Given the description of an element on the screen output the (x, y) to click on. 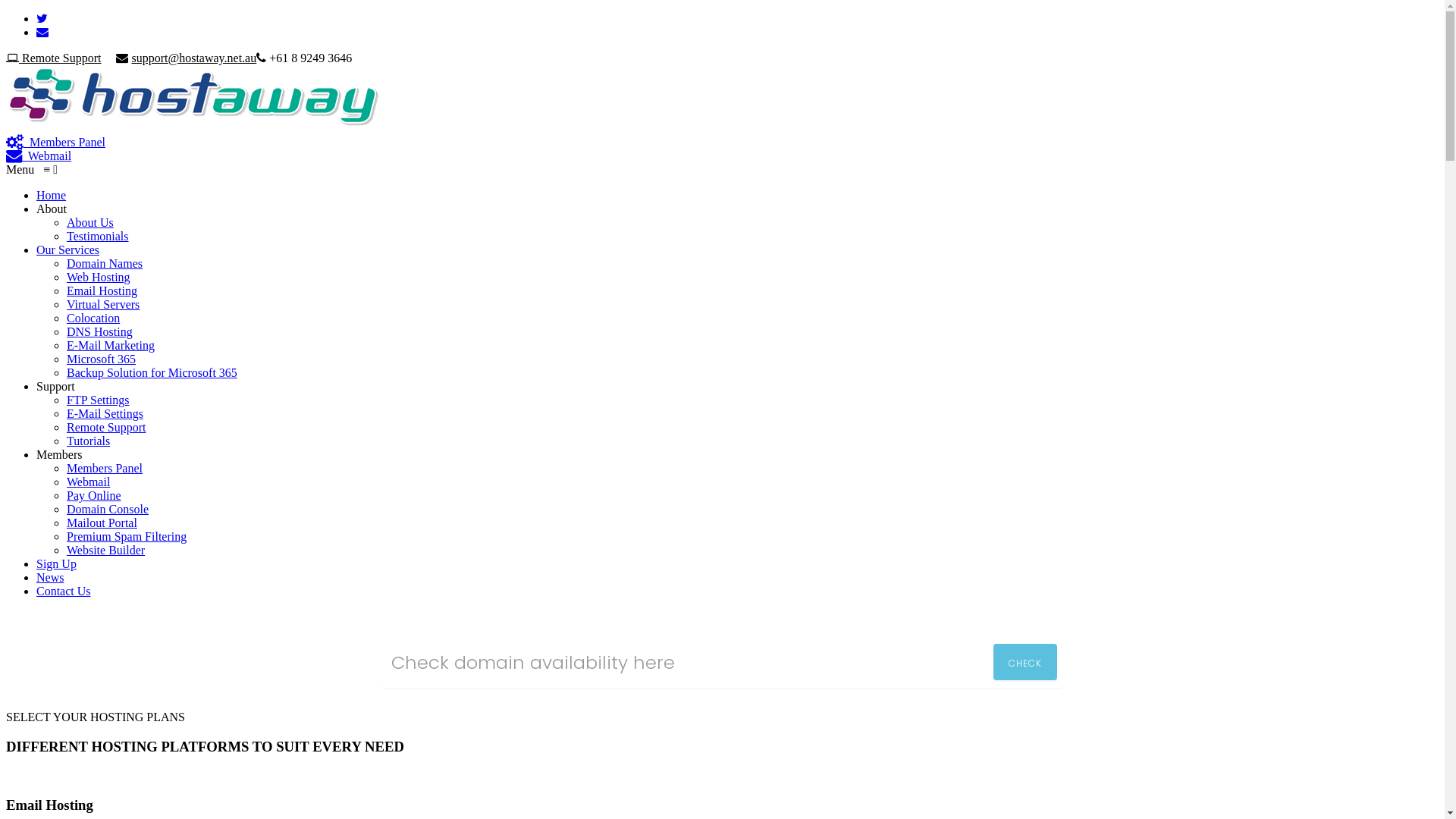
support@hostaway.net.au Element type: text (193, 57)
Remote Support Element type: text (53, 57)
  Webmail Element type: text (38, 155)
Domain Console Element type: text (107, 508)
Email Element type: hover (42, 31)
About Us Element type: text (89, 222)
Domain Names Element type: text (104, 263)
  Members Panel Element type: text (55, 141)
Members Panel Element type: text (104, 467)
News Element type: text (49, 577)
Email Hosting Element type: text (101, 290)
Contact Us Element type: text (63, 590)
CHECK Element type: text (1025, 661)
Premium Spam Filtering Element type: text (126, 536)
FTP Settings Element type: text (97, 399)
Virtual Servers Element type: text (102, 304)
Mailout Portal Element type: text (101, 522)
Twitter Element type: hover (41, 18)
Sign Up Element type: text (56, 563)
Home Element type: text (50, 194)
Our Services Element type: text (67, 249)
About Element type: text (51, 208)
DNS Hosting Element type: text (99, 331)
Tutorials Element type: text (87, 440)
Webmail Element type: text (87, 481)
Website Builder Element type: text (105, 549)
Members Element type: text (58, 454)
Backup Solution for Microsoft 365 Element type: text (151, 372)
Web Hosting Element type: text (98, 276)
Support Element type: text (55, 385)
Microsoft 365 Element type: text (100, 358)
Testimonials Element type: text (97, 235)
Colocation Element type: text (92, 317)
E-Mail Settings Element type: text (104, 413)
Pay Online Element type: text (93, 495)
Remote Support Element type: text (105, 426)
E-Mail Marketing Element type: text (110, 344)
